Given the description of an element on the screen output the (x, y) to click on. 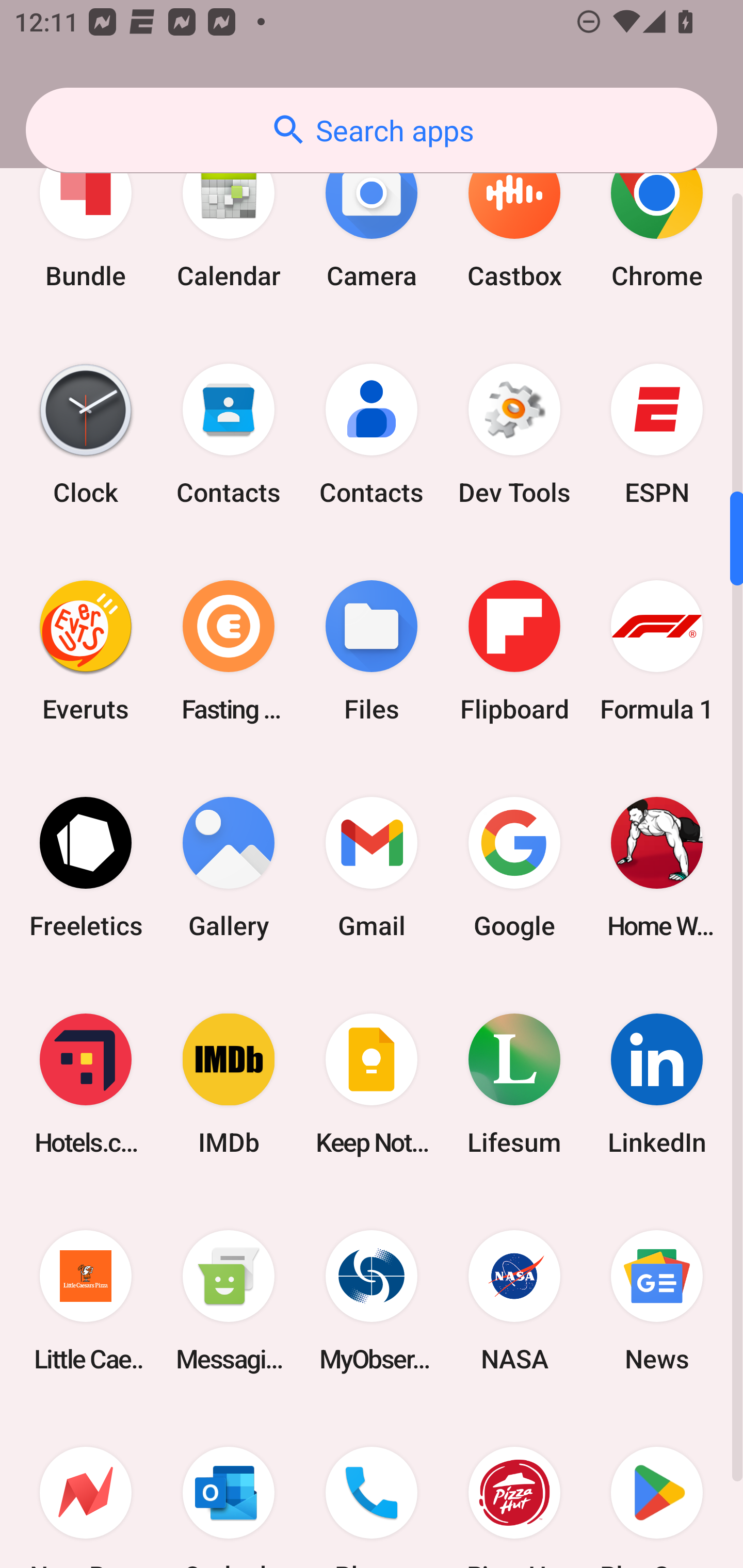
  Search apps (371, 130)
Bundle (85, 217)
Calendar (228, 217)
Camera (371, 217)
Castbox (514, 217)
Chrome (656, 217)
Clock (85, 434)
Contacts (228, 434)
Contacts (371, 434)
Dev Tools (514, 434)
ESPN (656, 434)
Everuts (85, 650)
Fasting Coach (228, 650)
Files (371, 650)
Flipboard (514, 650)
Formula 1 (656, 650)
Freeletics (85, 866)
Gallery (228, 866)
Gmail (371, 866)
Google (514, 866)
Home Workout (656, 866)
Hotels.com (85, 1084)
IMDb (228, 1084)
Keep Notes (371, 1084)
Lifesum (514, 1084)
LinkedIn (656, 1084)
Little Caesars Pizza (85, 1301)
Messaging (228, 1301)
MyObservatory (371, 1301)
NASA (514, 1301)
News (656, 1301)
NewsBreak (85, 1488)
Outlook (228, 1488)
Phone (371, 1488)
Pizza Hut HK & Macau (514, 1488)
Play Store (656, 1488)
